Given the description of an element on the screen output the (x, y) to click on. 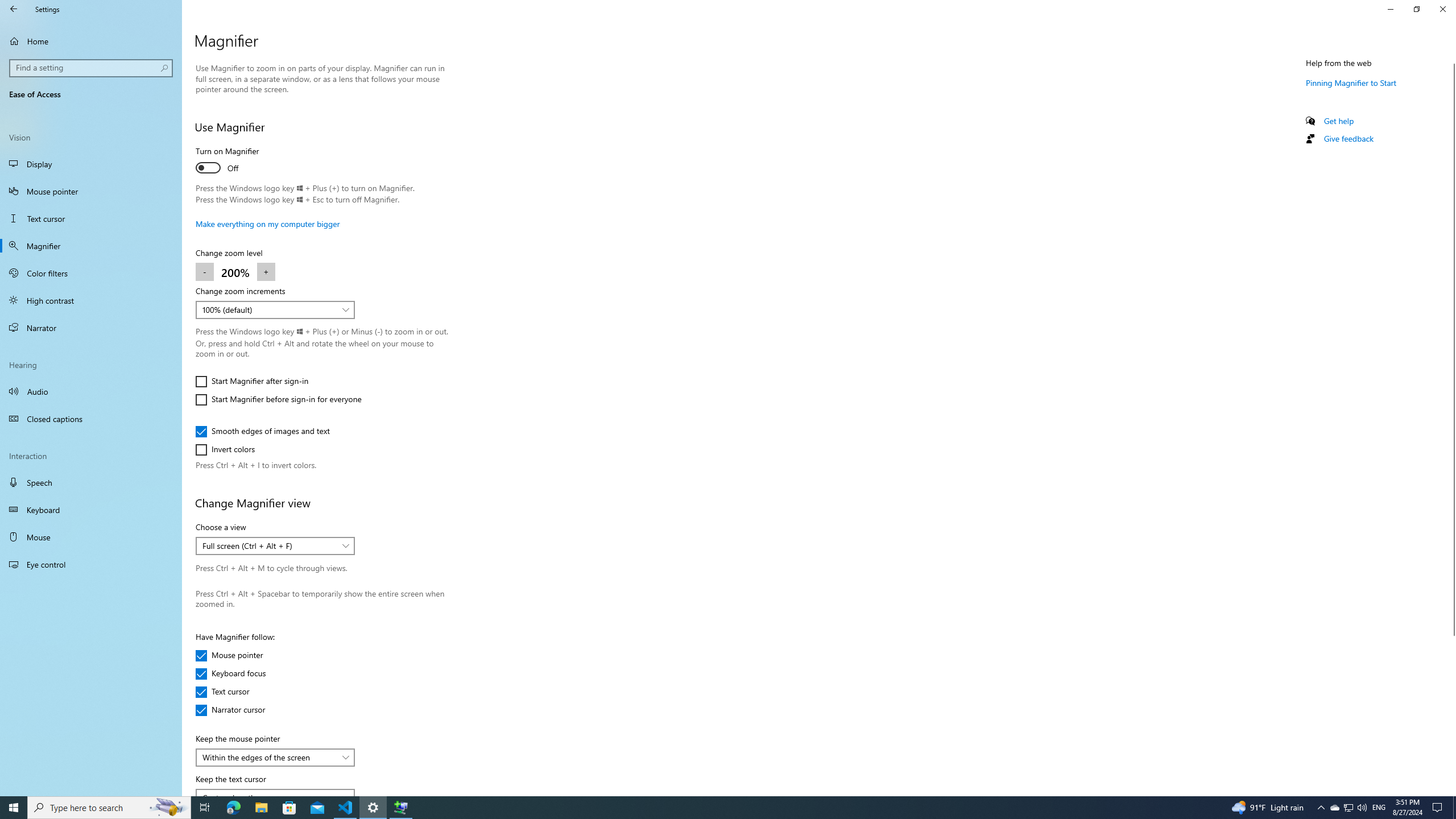
Start (13, 807)
Close Settings (1442, 9)
Color filters (91, 272)
Restore Settings (1416, 9)
Keep the text cursor (275, 792)
Text cursor (229, 692)
User Promoted Notification Area (1347, 807)
Vertical Small Decrease (1451, 58)
Q2790: 100% (1361, 807)
Notification Chevron (1320, 807)
Mouse pointer (91, 190)
Choose a view (275, 546)
Keep the mouse pointer (275, 757)
Minimize Settings (1390, 9)
